Given the description of an element on the screen output the (x, y) to click on. 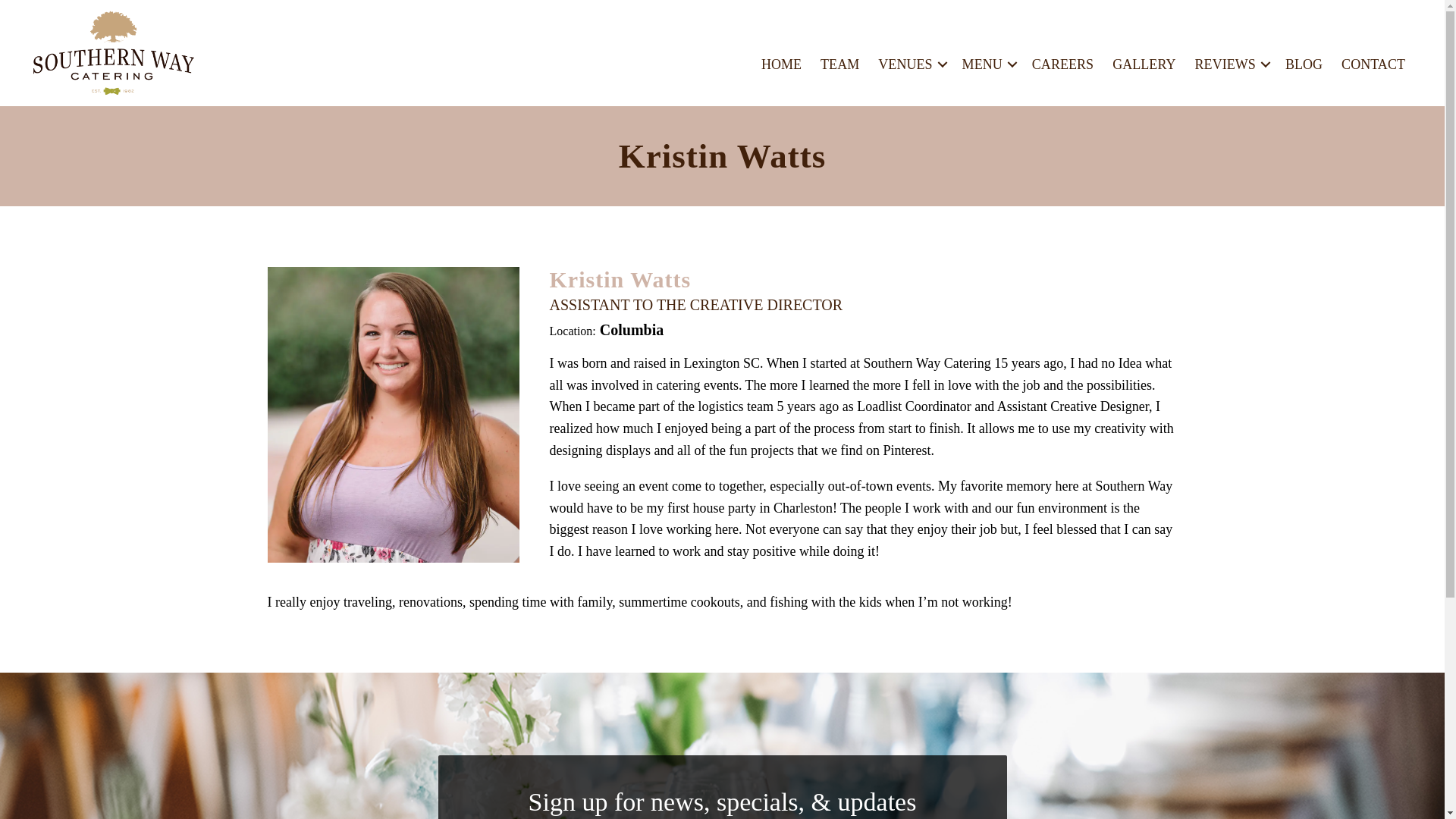
Submit (574, 589)
GALLERY (1144, 63)
SWC-Logo-color (113, 52)
MENU (987, 63)
REVIEWS (1230, 63)
BLOG (1304, 63)
CONTACT (1372, 63)
HOME (781, 63)
VENUES (910, 63)
CAREERS (1062, 63)
TEAM (838, 63)
